Given the description of an element on the screen output the (x, y) to click on. 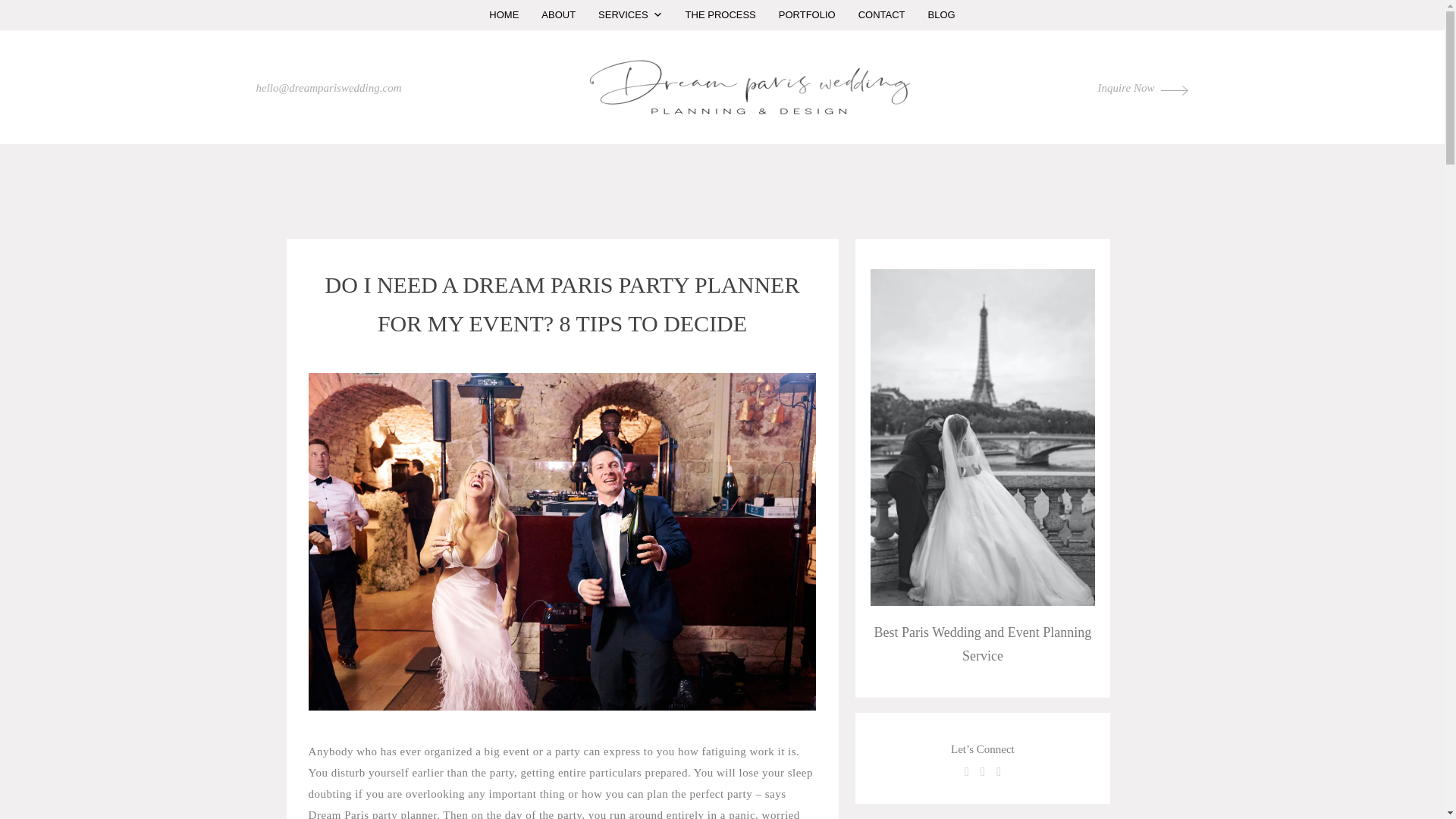
PORTFOLIO (807, 15)
HOME (503, 15)
SERVICES (630, 15)
BLOG (941, 15)
Best Paris Wedding and Event Planning Service (982, 643)
THE PROCESS (720, 15)
Inquire Now (1143, 87)
CONTACT (882, 15)
ABOUT (557, 15)
